Given the description of an element on the screen output the (x, y) to click on. 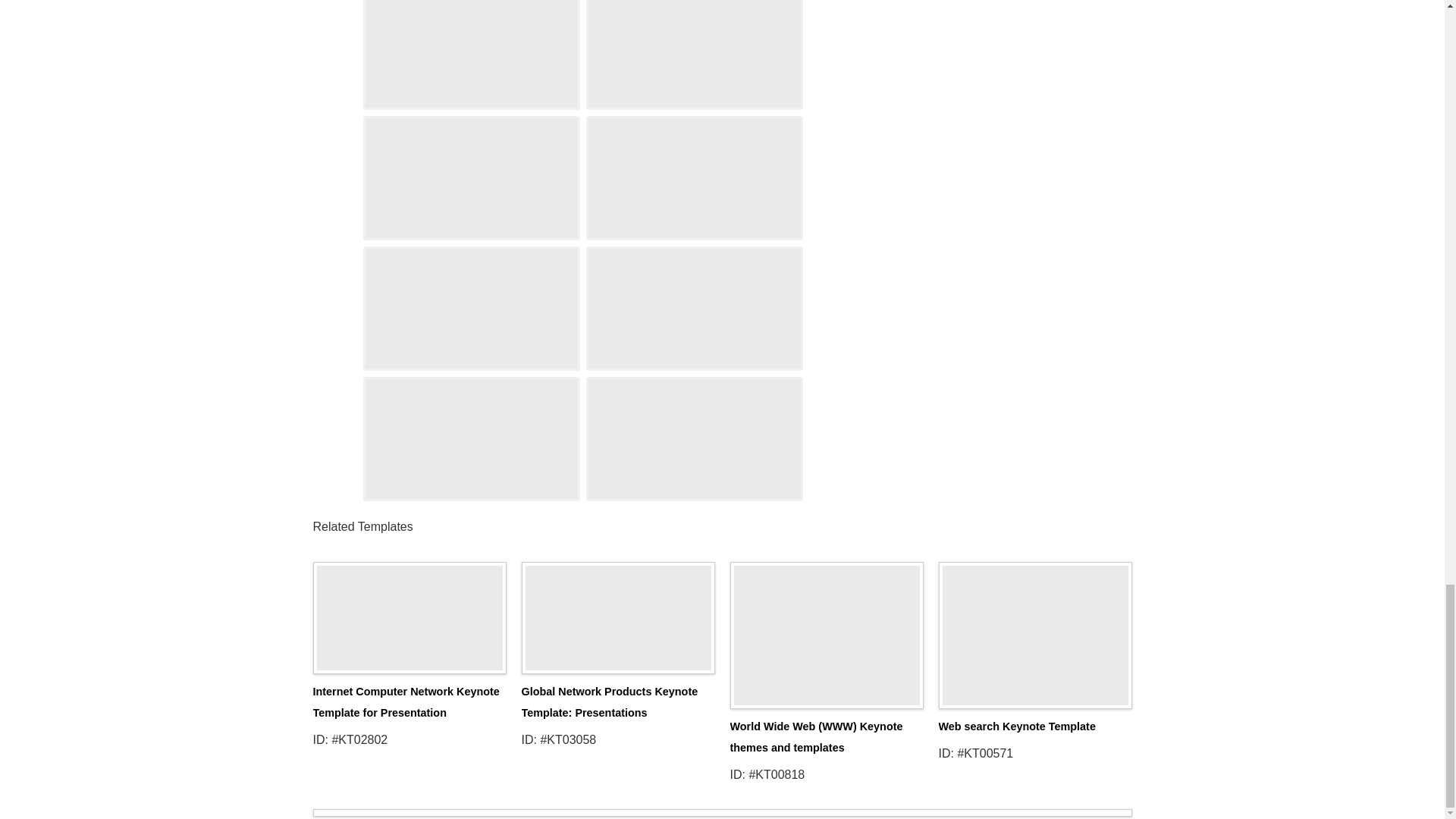
Internet Computer Network Keynote Template for Presentation (409, 612)
Internet Computer Network Keynote Template for Presentation (406, 702)
Global Network Products Keynote Template: Presentations (617, 612)
